Given the description of an element on the screen output the (x, y) to click on. 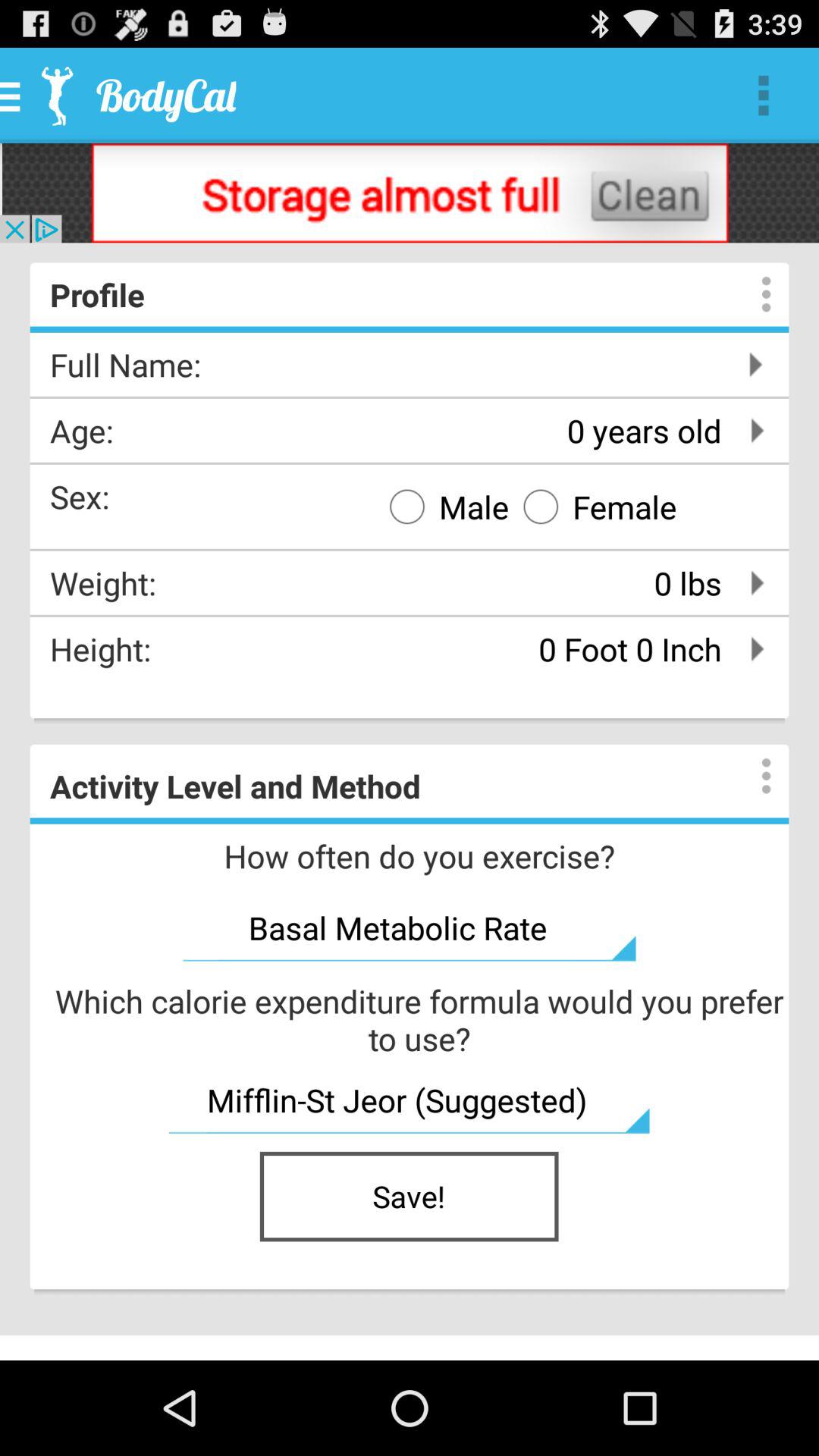
advertisement page (409, 192)
